Given the description of an element on the screen output the (x, y) to click on. 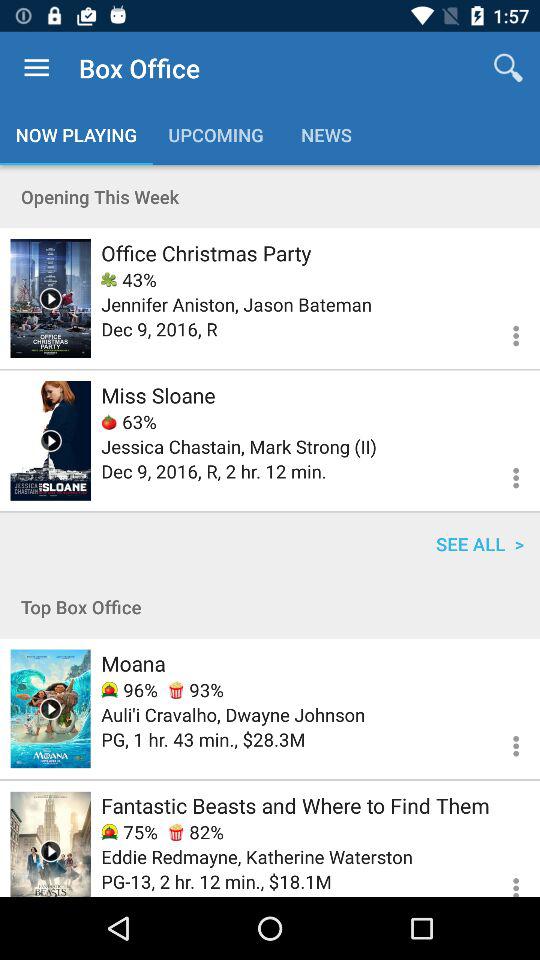
click on the moana movie poster (50, 708)
